Given the description of an element on the screen output the (x, y) to click on. 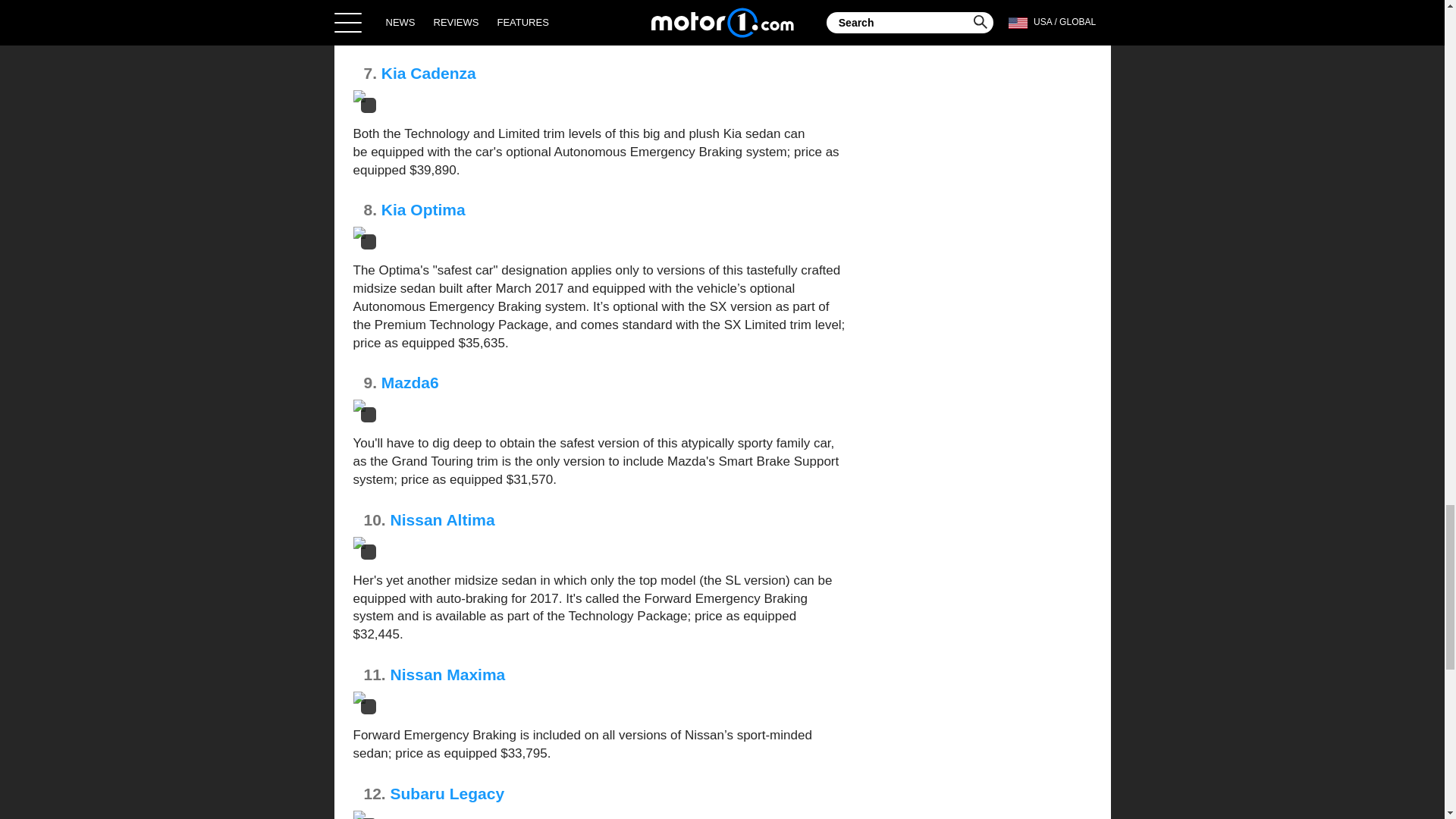
Nissan Altima (442, 519)
Kia Optima (423, 209)
Kia Cadenza (428, 72)
Mazda6 (410, 382)
Subaru Legacy (447, 793)
Nissan Maxima (447, 674)
